Given the description of an element on the screen output the (x, y) to click on. 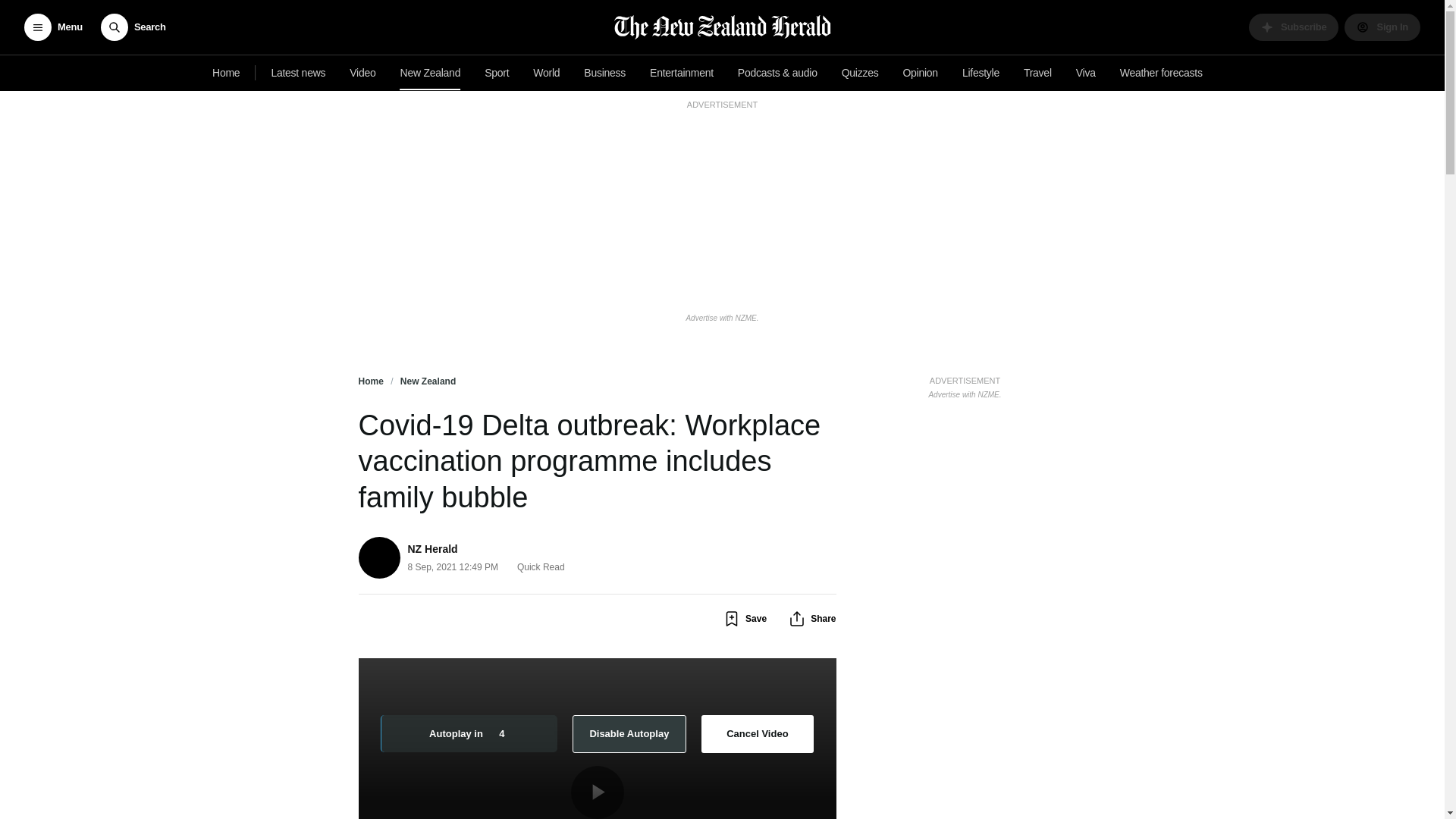
Subscribe (1294, 26)
World (546, 72)
Business (964, 384)
Latest news (604, 72)
Quizzes (298, 72)
Travel (860, 72)
Video (1037, 72)
Entertainment (362, 72)
Sign In (681, 72)
